Given the description of an element on the screen output the (x, y) to click on. 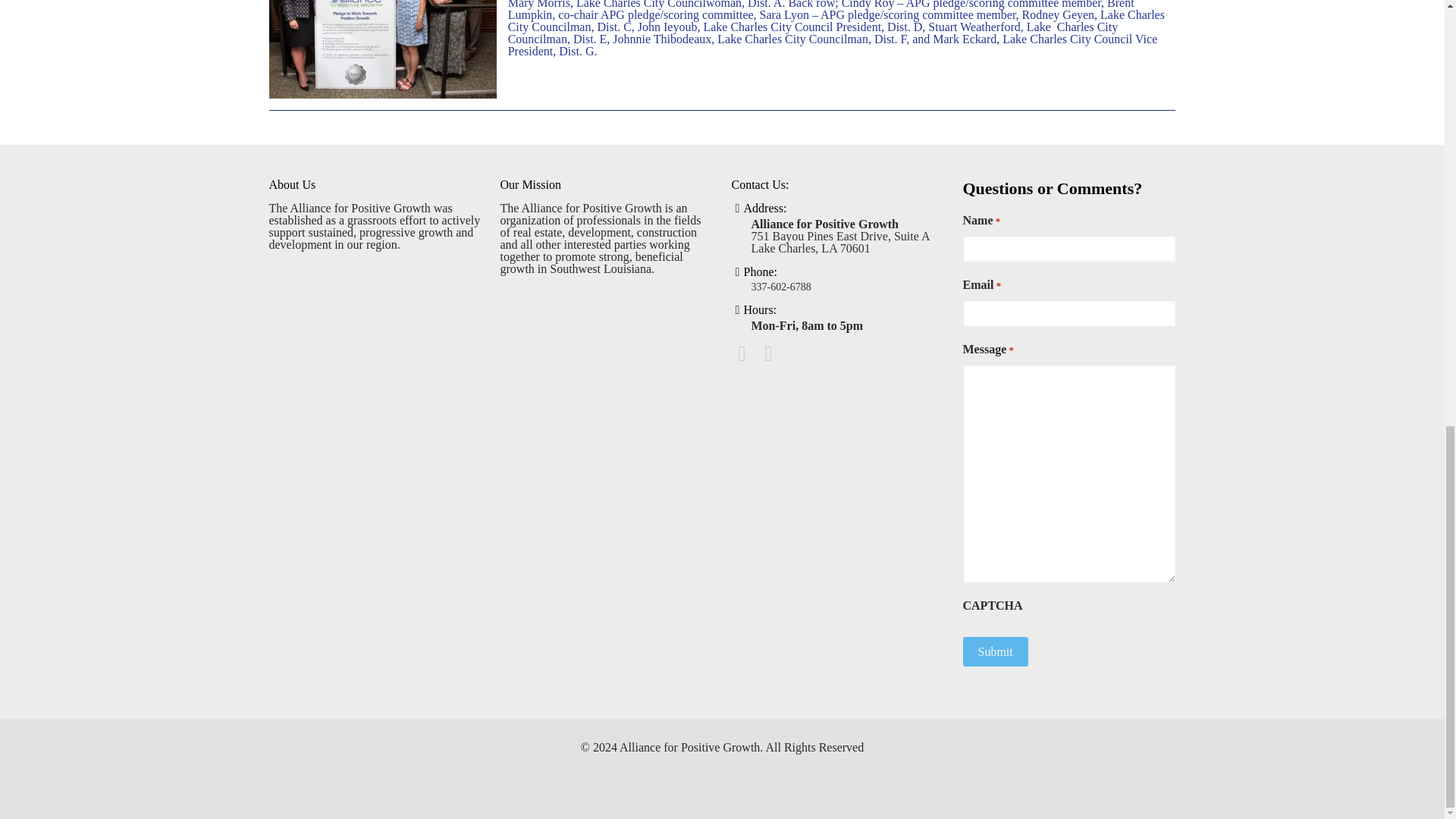
LinkedIn (730, 767)
Facebook (713, 767)
337-602-6788 (780, 286)
Submit (994, 651)
